Given the description of an element on the screen output the (x, y) to click on. 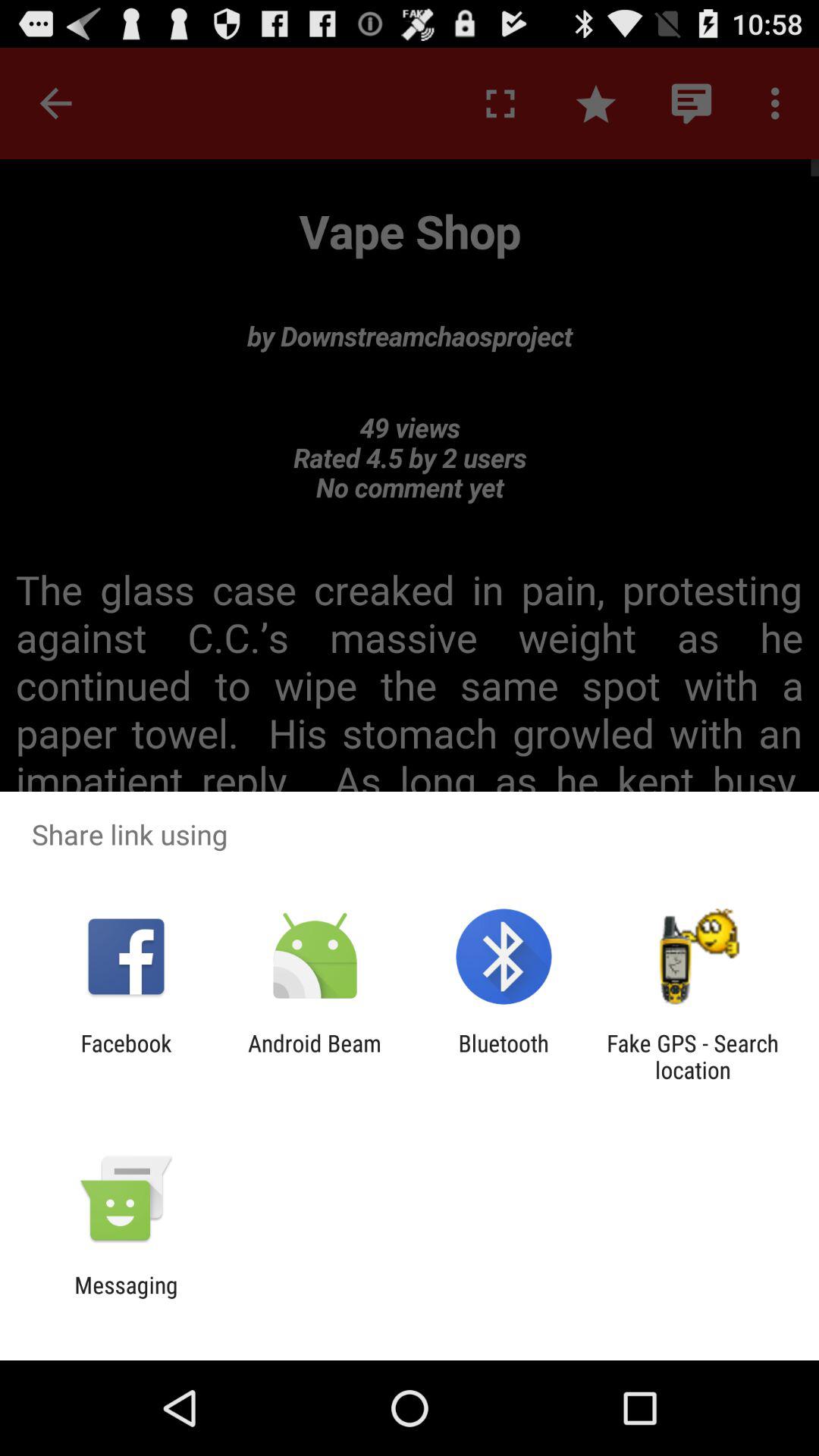
launch app to the right of the android beam app (503, 1056)
